Given the description of an element on the screen output the (x, y) to click on. 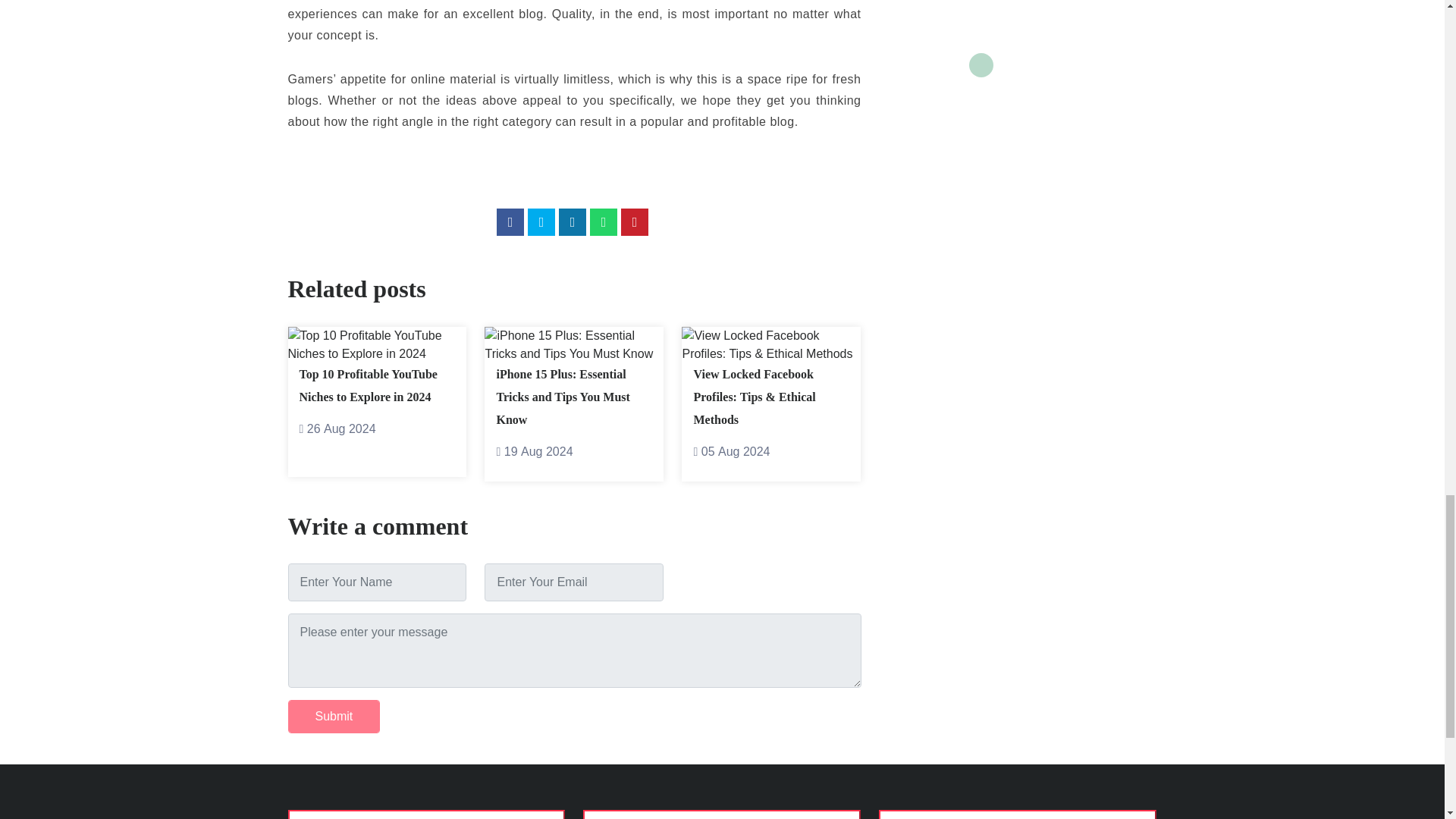
iPhone 15 Plus: Essential Tricks and Tips You Must Know (562, 396)
Submit Your Message! (334, 716)
Top 10 Profitable YouTube Niches to Explore in 2024 (367, 385)
